Given the description of an element on the screen output the (x, y) to click on. 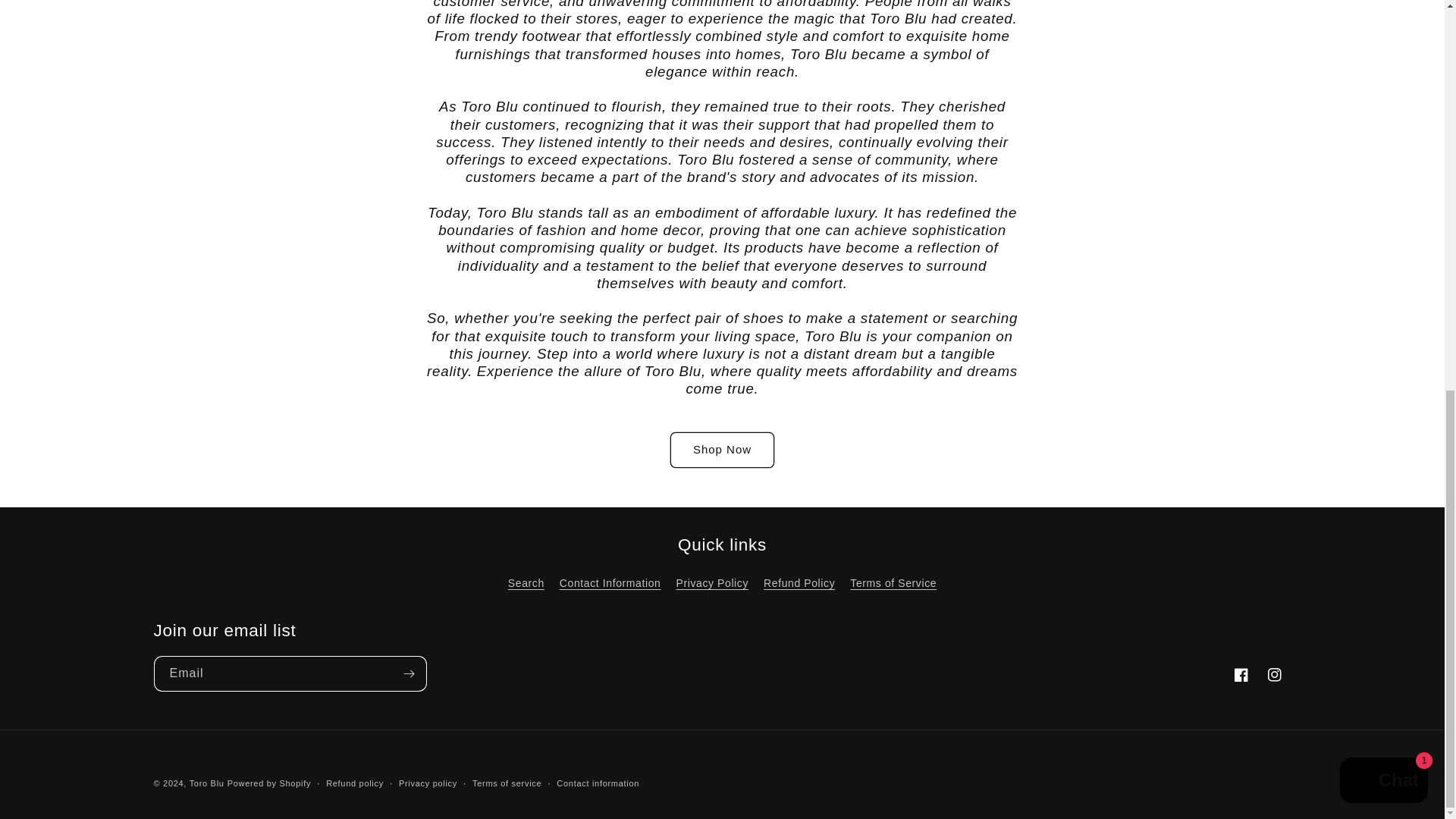
Terms of Service (893, 583)
Refund Policy (798, 583)
Search (526, 585)
Shop Now (721, 449)
Privacy Policy (711, 583)
Shopify online store chat (1383, 38)
Facebook (1240, 674)
Contact Information (610, 583)
